Given the description of an element on the screen output the (x, y) to click on. 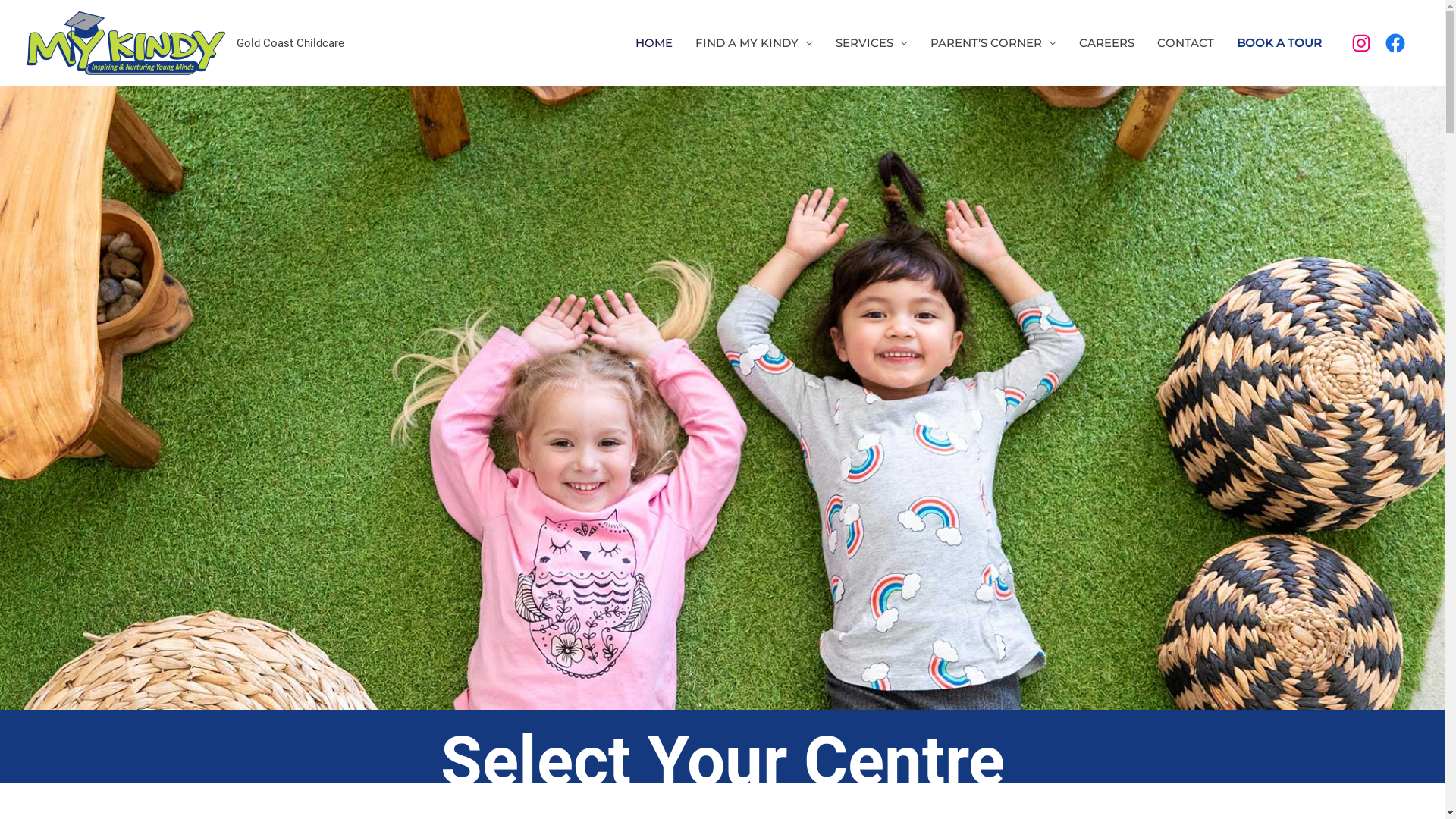
HOME Element type: text (653, 42)
BOOK A TOUR Element type: text (1279, 42)
CONTACT Element type: text (1184, 42)
SERVICES Element type: text (870, 42)
CAREERS Element type: text (1106, 42)
FIND A MY KINDY Element type: text (754, 42)
